Given the description of an element on the screen output the (x, y) to click on. 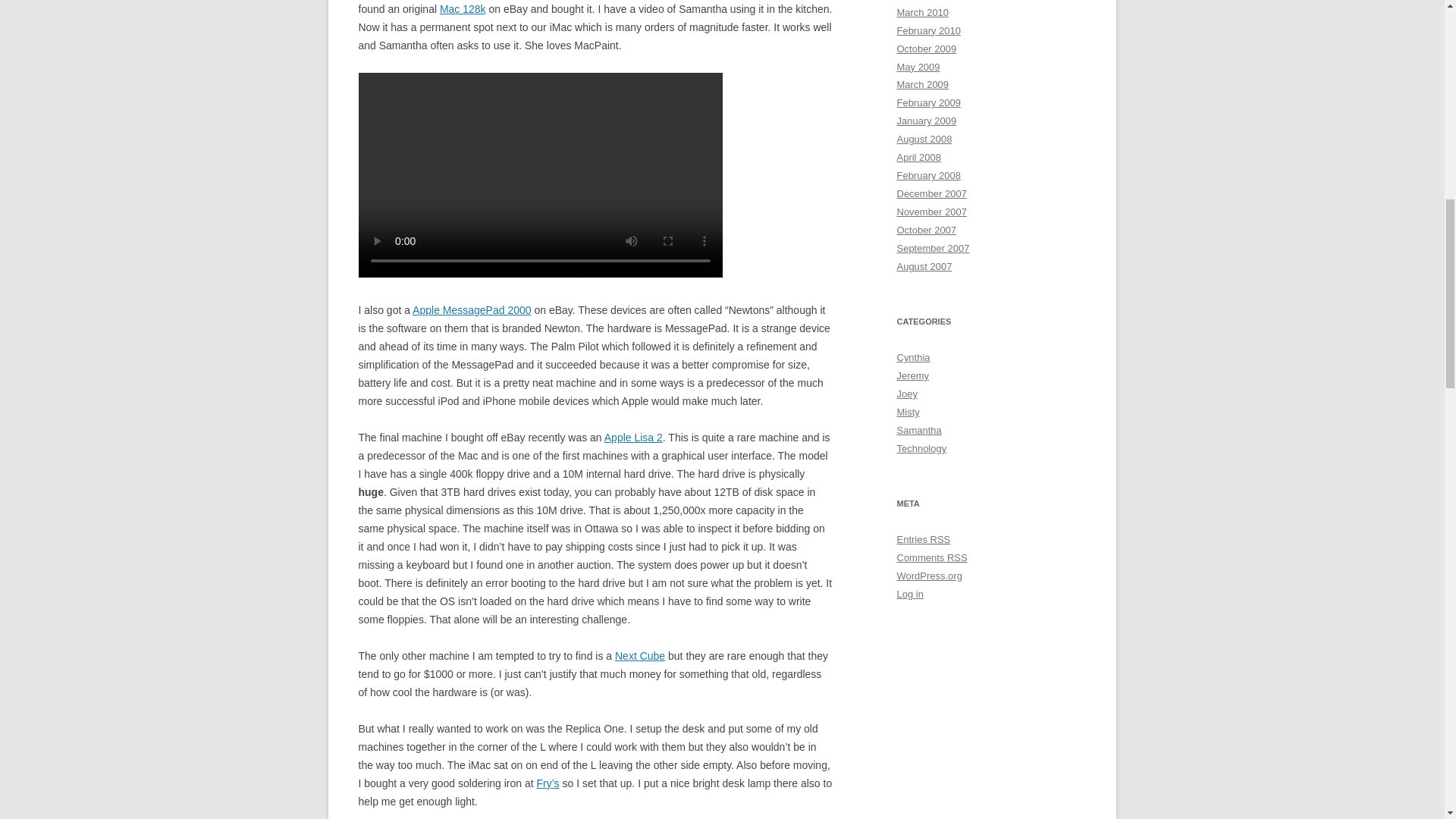
Really Simple Syndication (957, 557)
Really Simple Syndication (940, 539)
Next Cube (639, 655)
Mac 128k (462, 9)
Apple Lisa 2 (633, 437)
Apple MessagePad 2000 (471, 309)
